Given the description of an element on the screen output the (x, y) to click on. 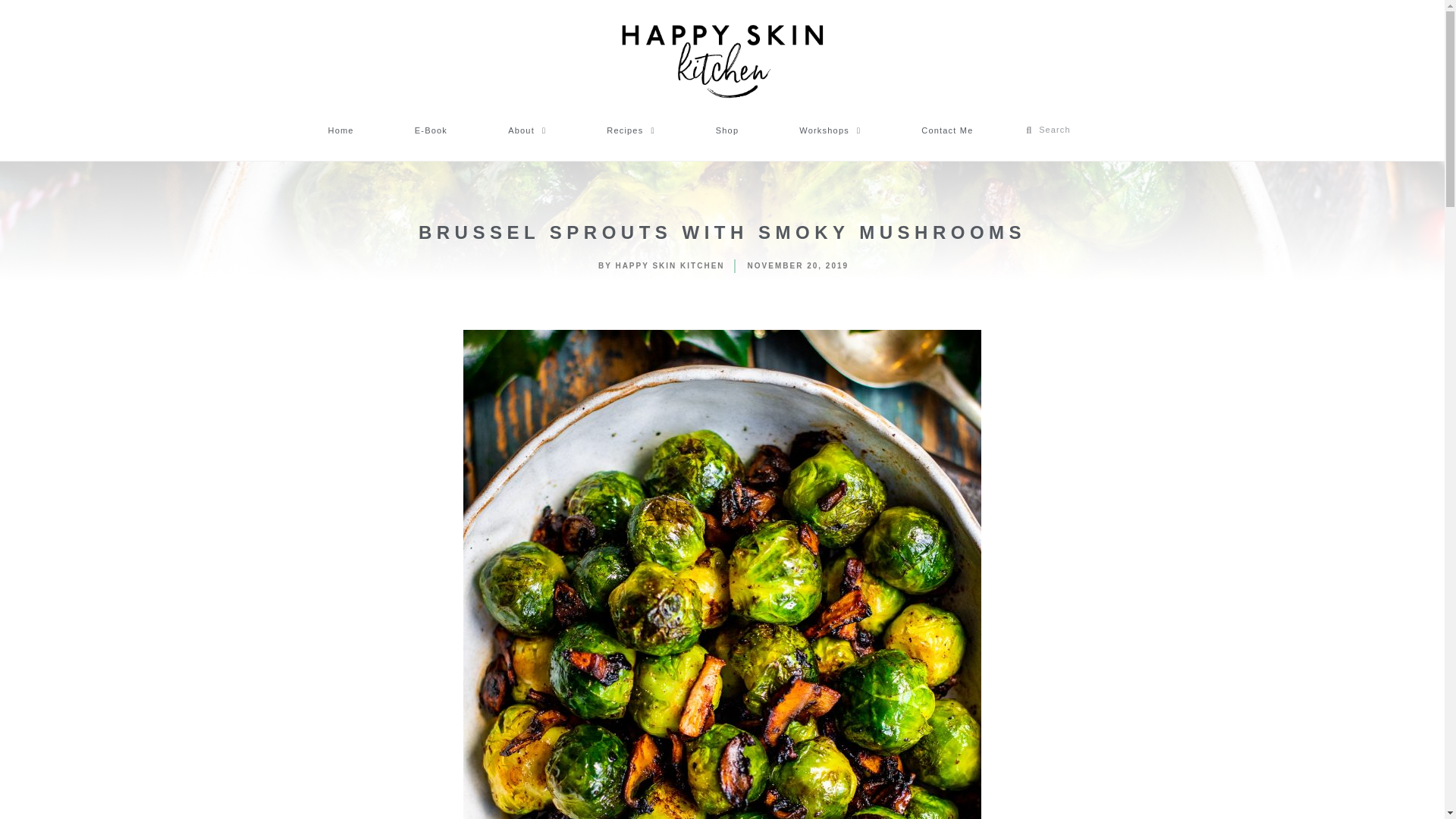
E-Book (430, 130)
Recipes (630, 130)
About (526, 130)
Workshops (829, 130)
Contact Me (947, 130)
Home (340, 130)
Shop (727, 130)
